Given the description of an element on the screen output the (x, y) to click on. 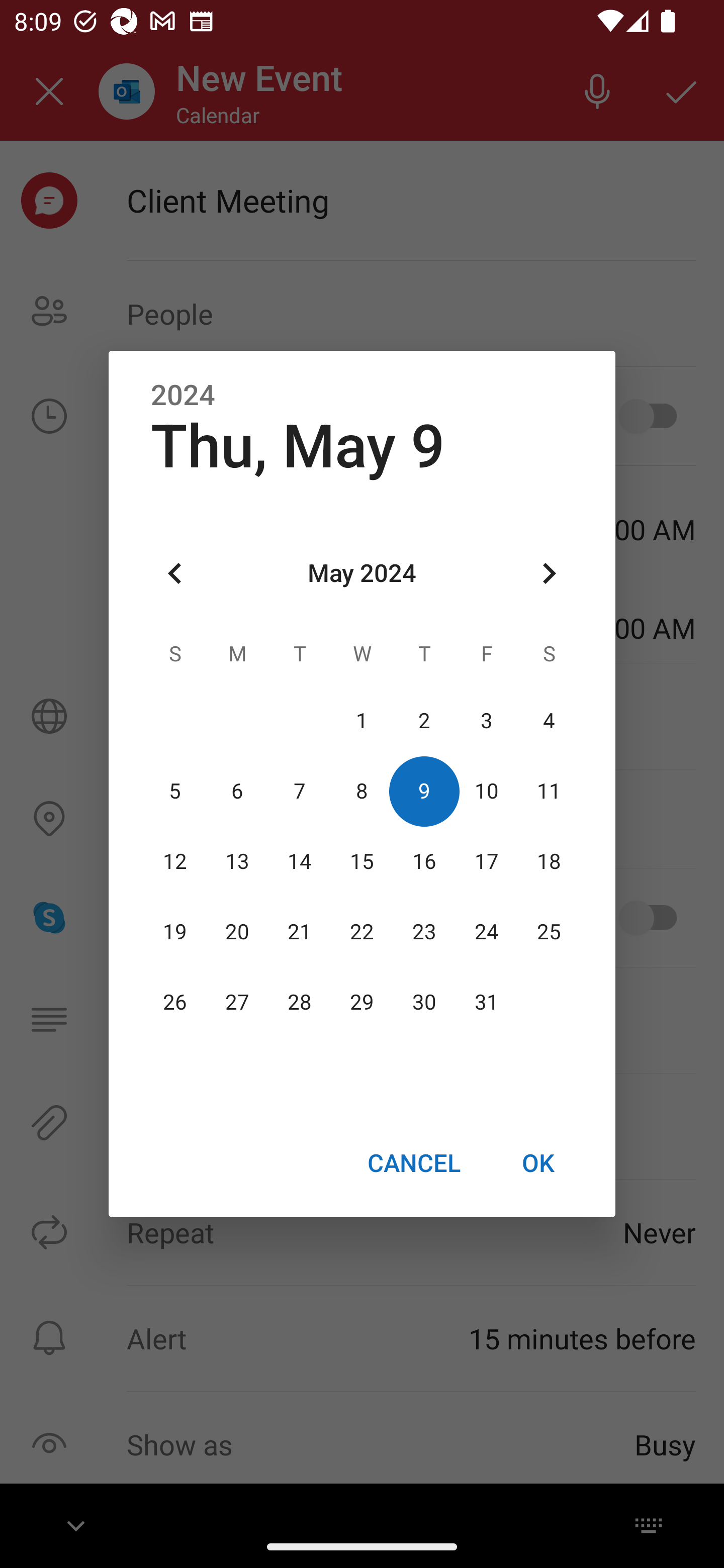
2024 (182, 395)
Thu, May 9 (297, 446)
Previous month (174, 573)
Next month (548, 573)
1 01 May 2024 (361, 720)
2 02 May 2024 (424, 720)
3 03 May 2024 (486, 720)
4 04 May 2024 (548, 720)
5 05 May 2024 (175, 790)
6 06 May 2024 (237, 790)
7 07 May 2024 (299, 790)
8 08 May 2024 (361, 790)
9 09 May 2024 (424, 790)
10 10 May 2024 (486, 790)
11 11 May 2024 (548, 790)
12 12 May 2024 (175, 861)
13 13 May 2024 (237, 861)
14 14 May 2024 (299, 861)
15 15 May 2024 (361, 861)
16 16 May 2024 (424, 861)
17 17 May 2024 (486, 861)
18 18 May 2024 (548, 861)
19 19 May 2024 (175, 931)
20 20 May 2024 (237, 931)
21 21 May 2024 (299, 931)
22 22 May 2024 (361, 931)
23 23 May 2024 (424, 931)
24 24 May 2024 (486, 931)
25 25 May 2024 (548, 931)
26 26 May 2024 (175, 1002)
27 27 May 2024 (237, 1002)
28 28 May 2024 (299, 1002)
29 29 May 2024 (361, 1002)
30 30 May 2024 (424, 1002)
31 31 May 2024 (486, 1002)
CANCEL (413, 1162)
OK (537, 1162)
